Given the description of an element on the screen output the (x, y) to click on. 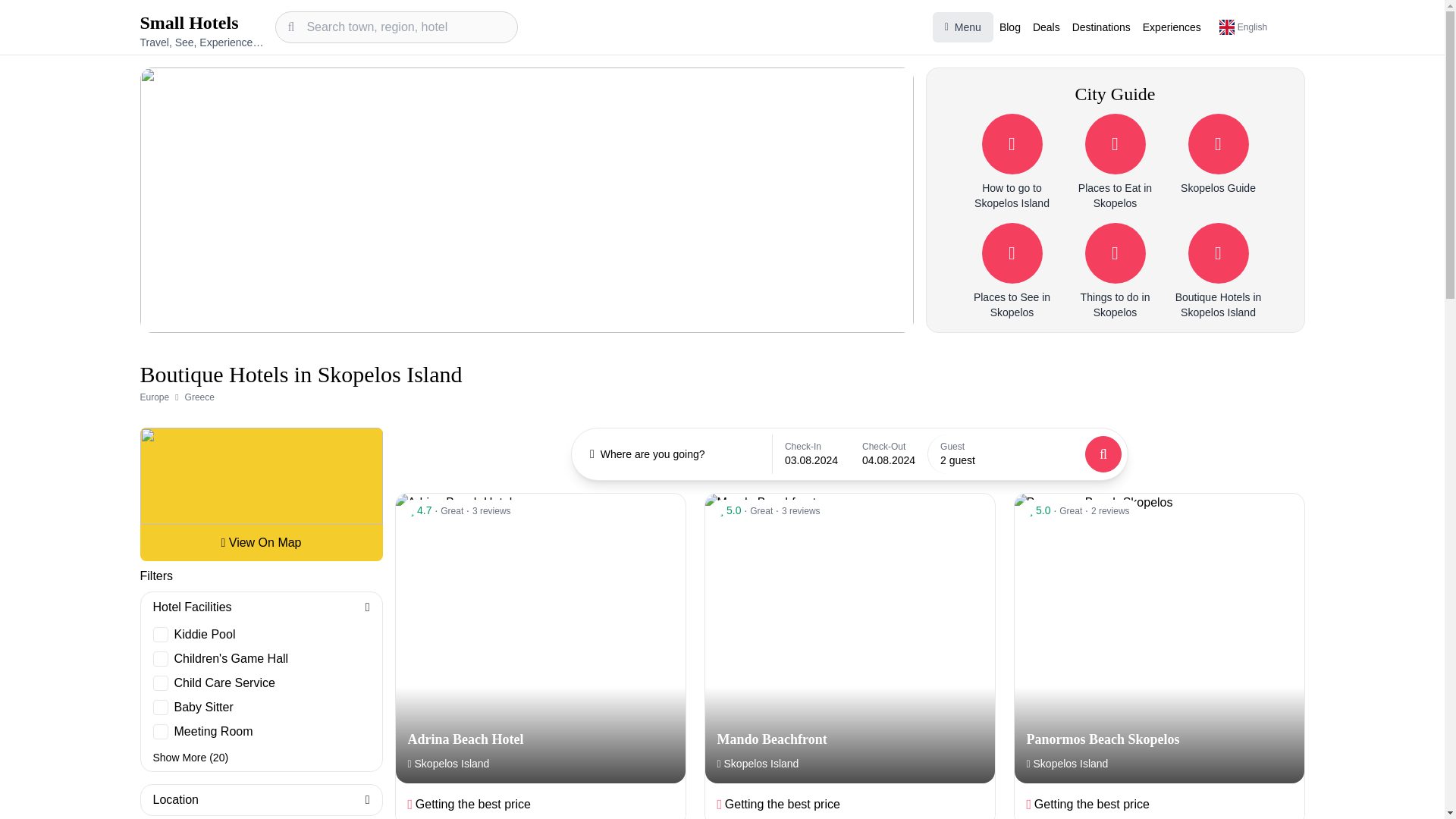
Blog (1009, 26)
Experiences (1172, 26)
Menu (962, 27)
Destinations (1101, 26)
Deals (1045, 26)
